Given the description of an element on the screen output the (x, y) to click on. 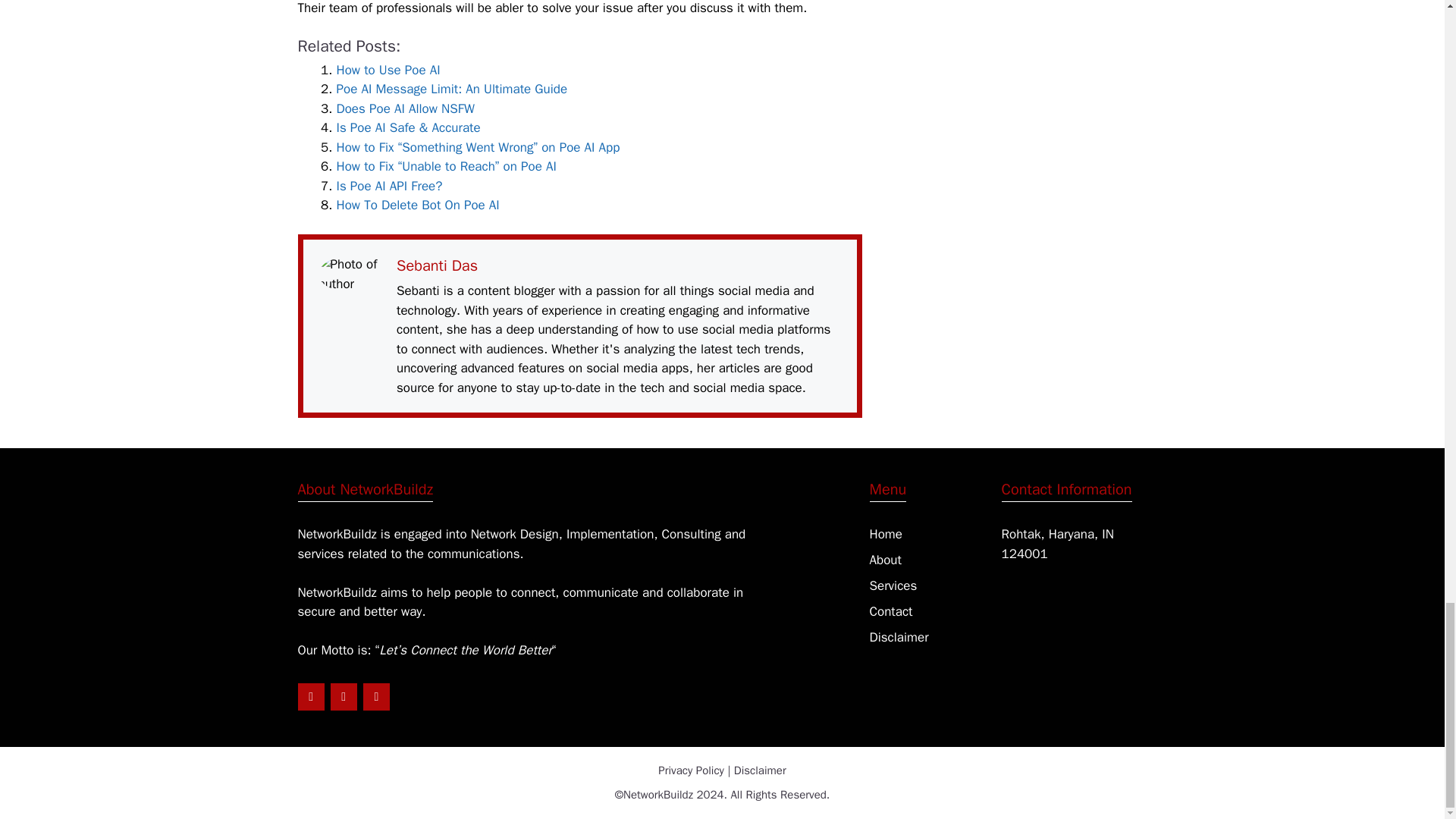
Does Poe AI Allow NSFW (405, 108)
How to Use Poe AI (388, 69)
Is Poe AI API Free? (389, 186)
Home (885, 534)
LinkedIn (310, 696)
How To Delete Bot On Poe AI (417, 204)
Does Poe AI Allow NSFW (405, 108)
Is Poe AI API Free? (389, 186)
Twitter (343, 696)
How To Delete Bot On Poe AI (417, 204)
